Given the description of an element on the screen output the (x, y) to click on. 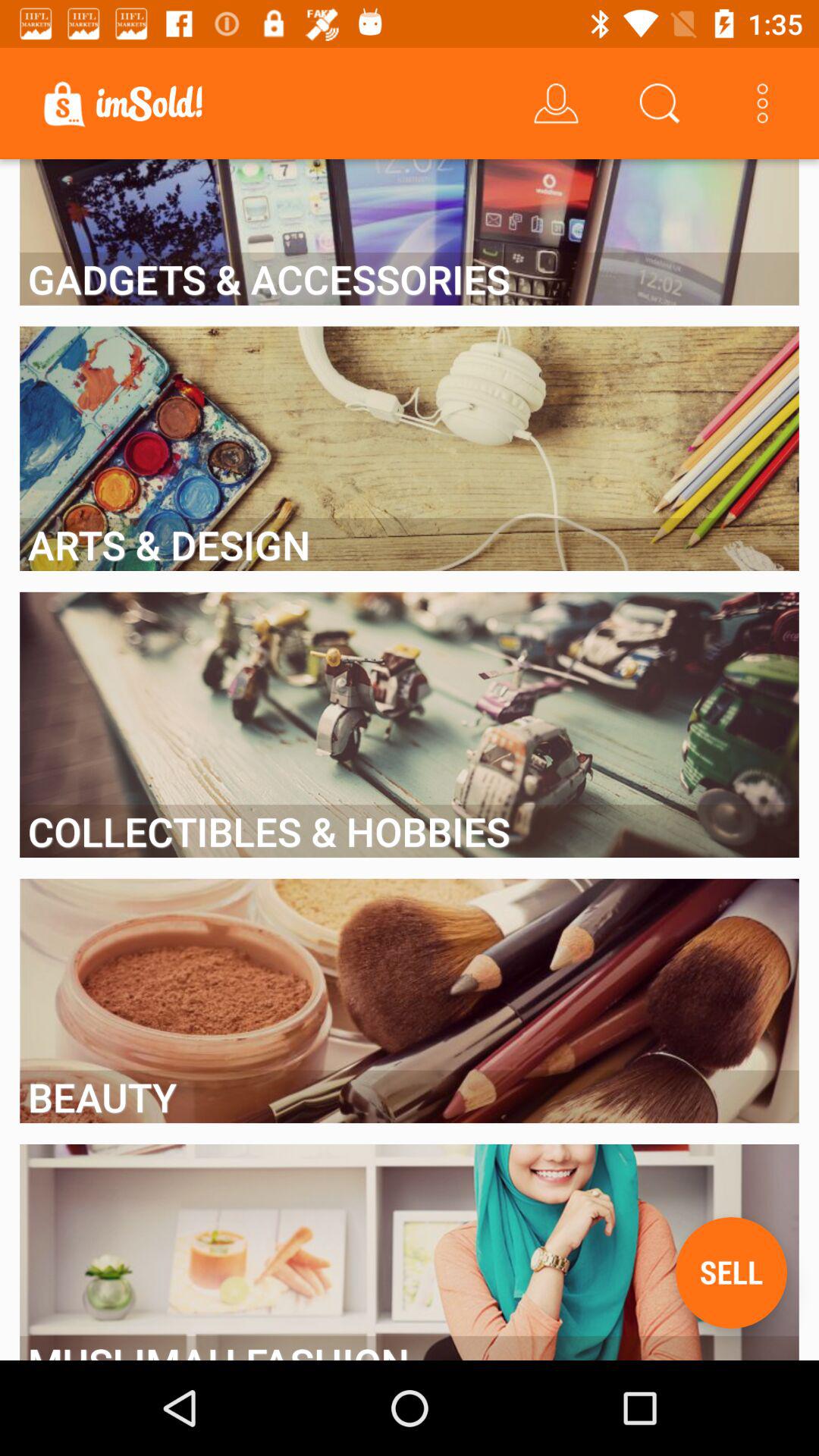
turn on the icon above the muslimah fashion (731, 1272)
